Given the description of an element on the screen output the (x, y) to click on. 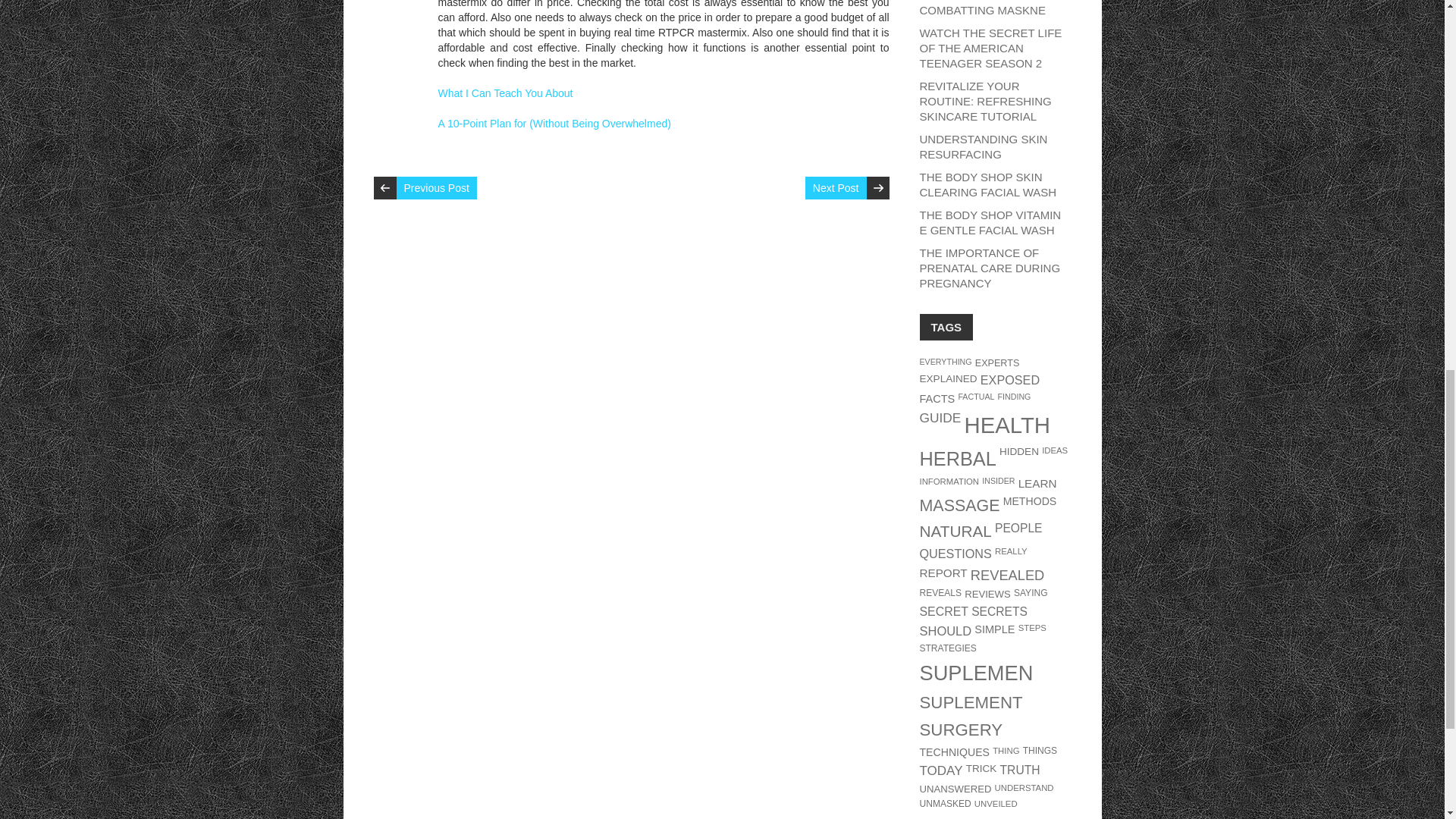
EXPERTS (997, 362)
Previous Post (436, 187)
What I Can Teach You About (505, 92)
EXPLAINED (947, 378)
Next Post (835, 187)
EVERYTHING (944, 361)
WATCH THE SECRET LIFE OF THE AMERICAN TEENAGER SEASON 2 (989, 47)
THE IMPORTANCE OF PRENATAL CARE DURING PREGNANCY (988, 267)
EXPOSED (1009, 379)
THE BODY SHOP VITAMIN E GENTLE FACIAL WASH (989, 222)
COMBATTING MASKNE (981, 10)
REVITALIZE YOUR ROUTINE: REFRESHING SKINCARE TUTORIAL (984, 100)
UNDERSTANDING SKIN RESURFACING (982, 146)
THE BODY SHOP SKIN CLEARING FACIAL WASH (987, 184)
